Given the description of an element on the screen output the (x, y) to click on. 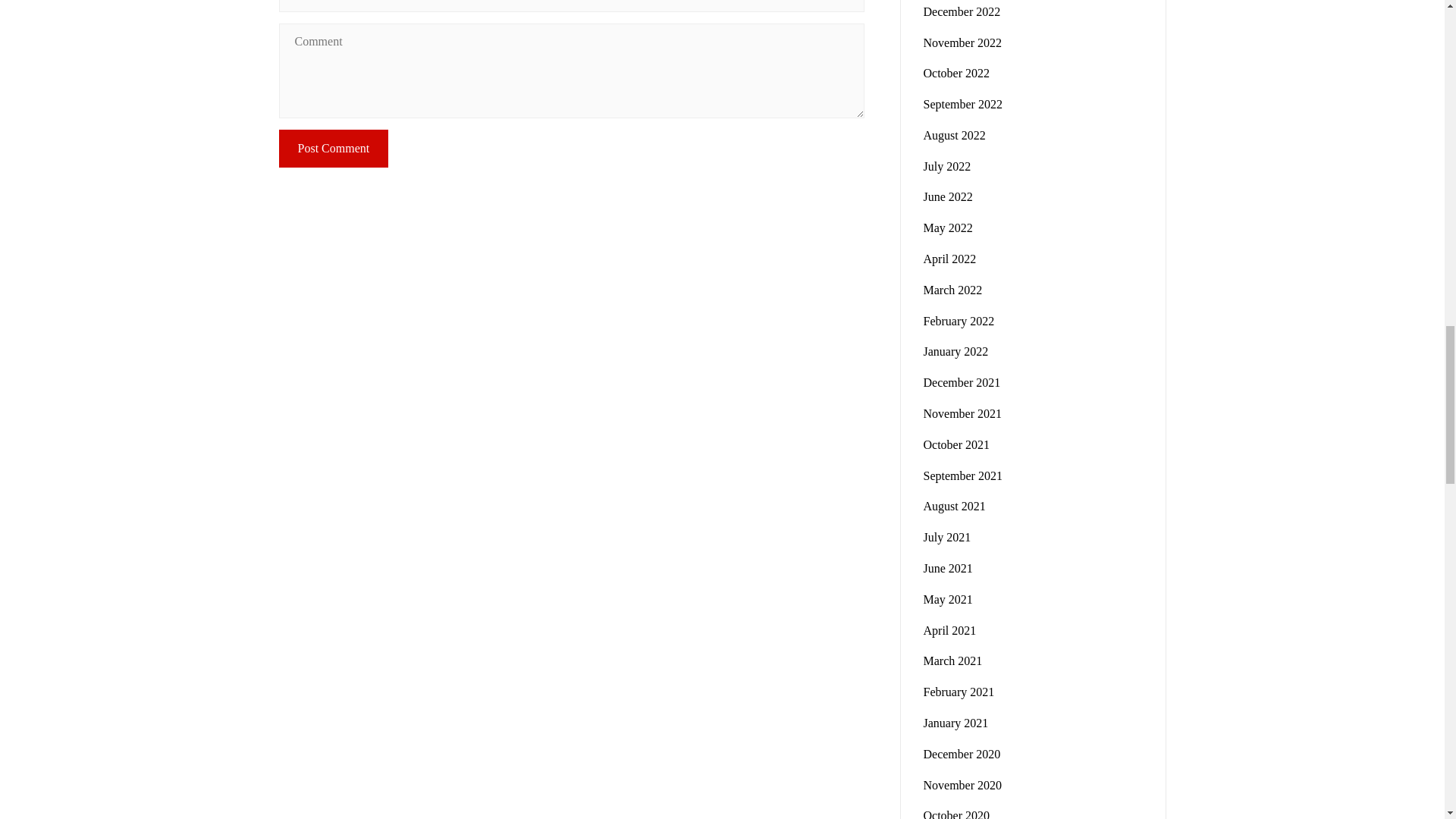
Post Comment (333, 148)
Post Comment (333, 148)
